Given the description of an element on the screen output the (x, y) to click on. 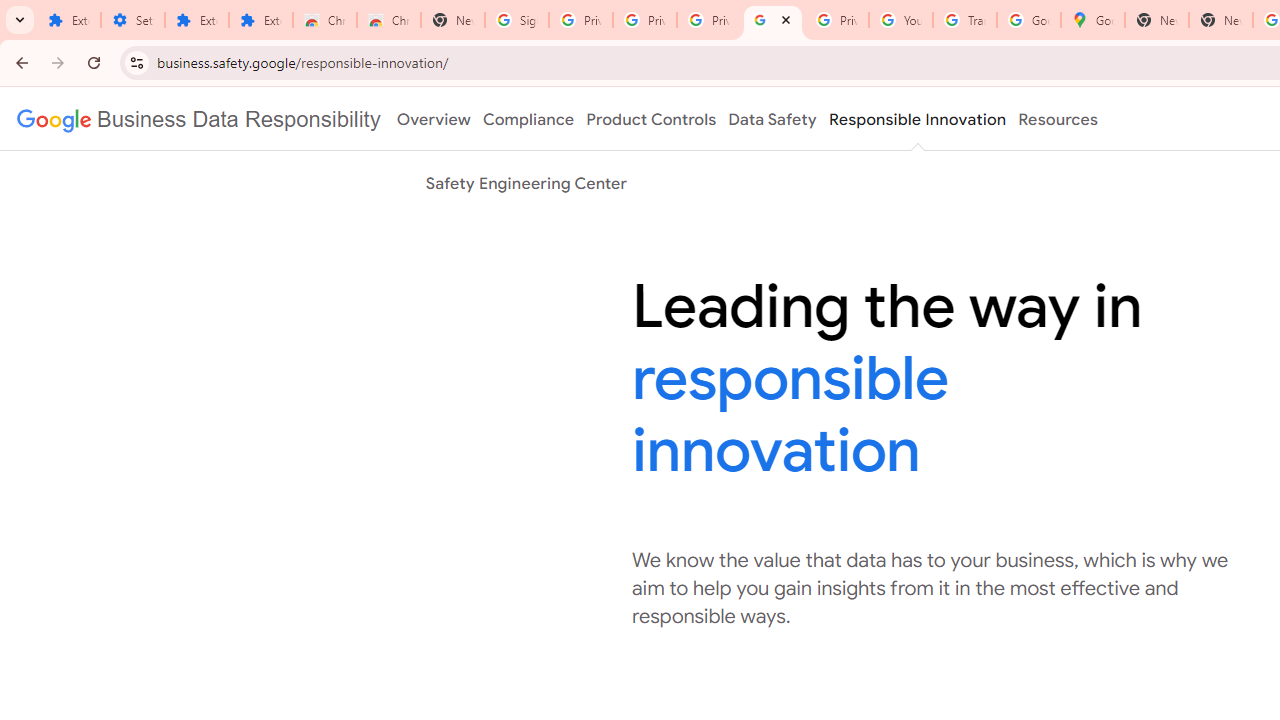
Close (785, 19)
Resources (1058, 119)
New Tab (1221, 20)
Responsible Innovation (916, 119)
System (10, 11)
View site information (136, 62)
Back (19, 62)
Chrome Web Store (325, 20)
Sign in - Google Accounts (517, 20)
Extensions (261, 20)
Search tabs (20, 20)
